Given the description of an element on the screen output the (x, y) to click on. 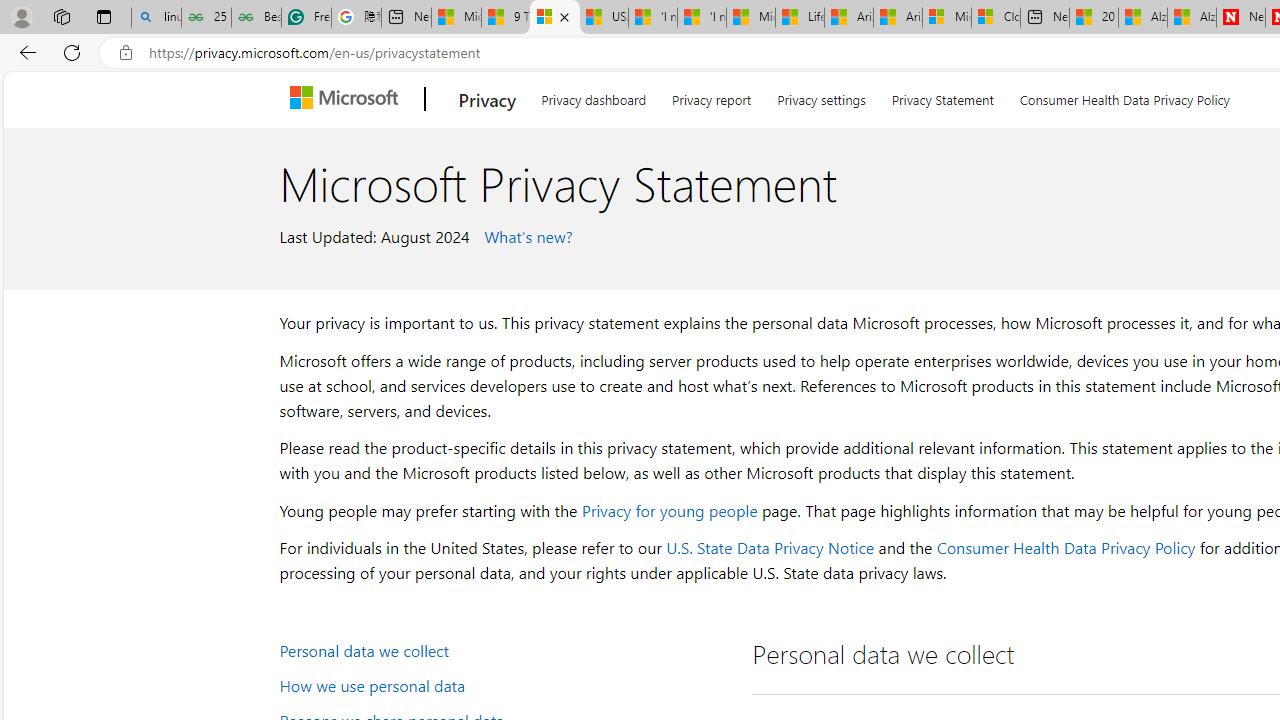
Privacy dashboard (593, 96)
Privacy for young people (669, 509)
Privacy Statement (942, 96)
Privacy report (712, 96)
Cloud Computing Services | Microsoft Azure (995, 17)
